Given the description of an element on the screen output the (x, y) to click on. 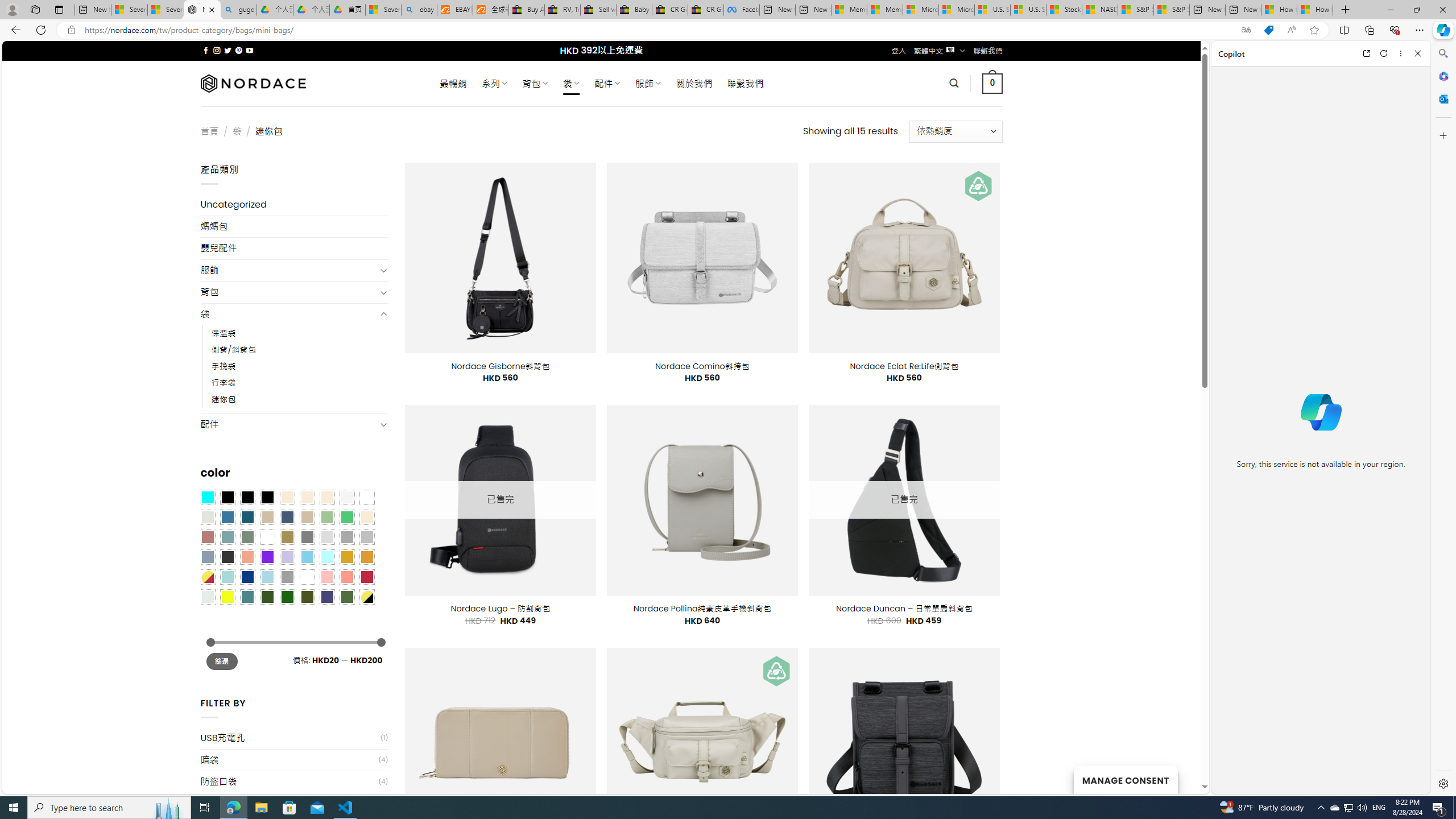
Side bar (1443, 418)
 0  (992, 83)
Facebook (741, 9)
Split screen (1344, 29)
Tab actions menu (58, 9)
Nordace (252, 83)
Microsoft 365 (1442, 76)
Dull Nickle (207, 596)
Search (1442, 53)
